Given the description of an element on the screen output the (x, y) to click on. 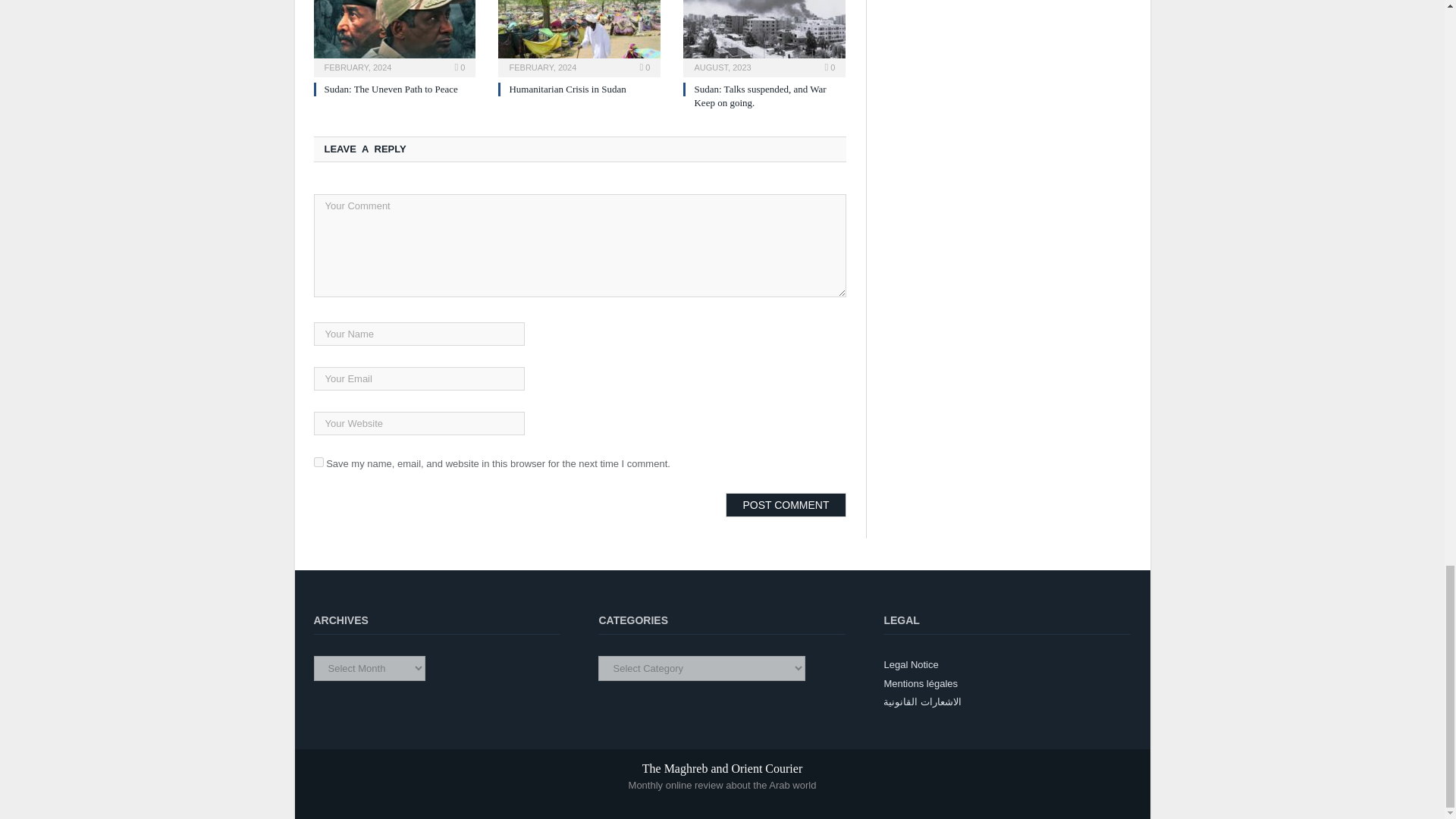
Post Comment (785, 504)
yes (318, 461)
